Given the description of an element on the screen output the (x, y) to click on. 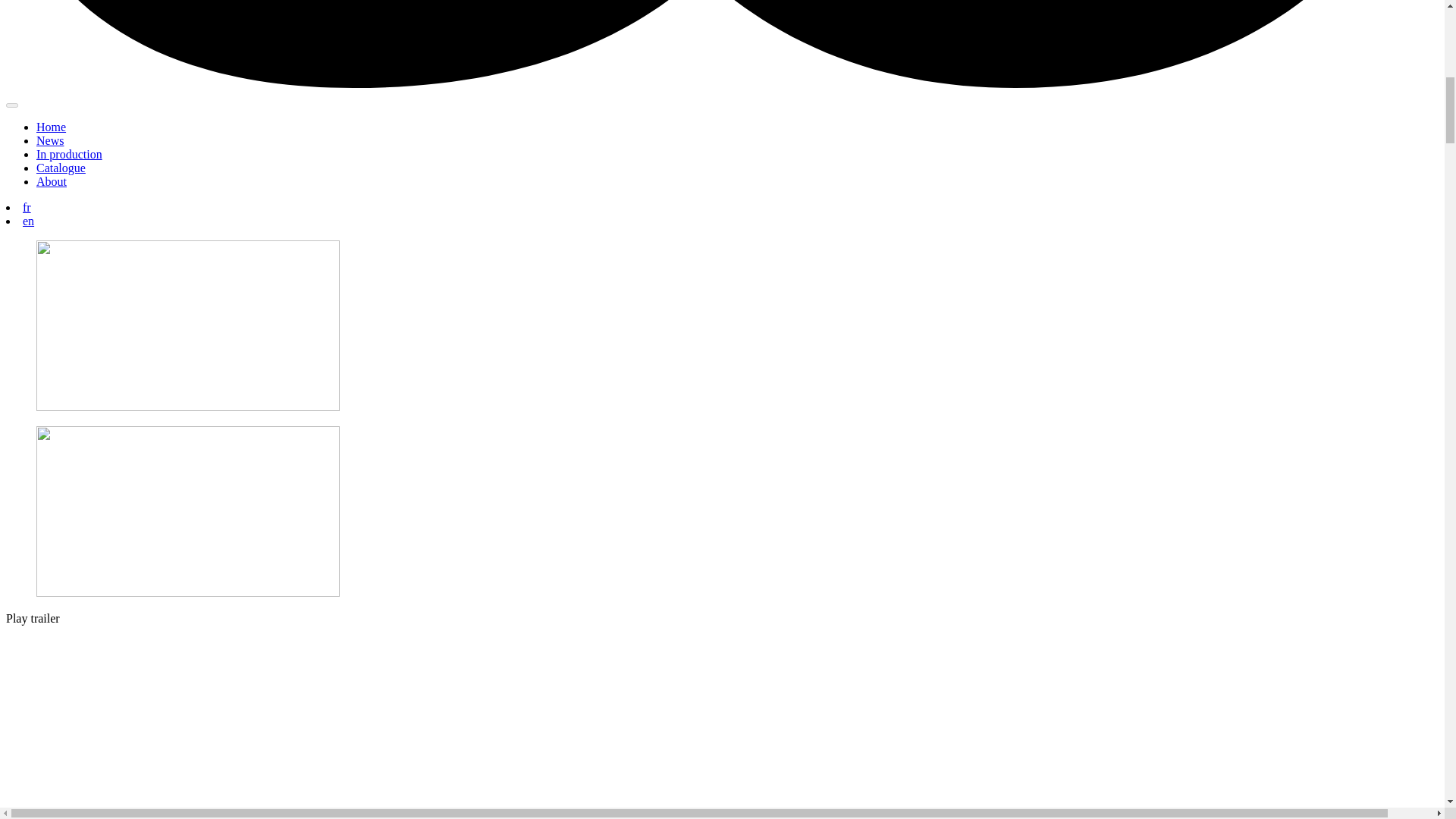
fr (26, 206)
Play trailer (32, 617)
About (51, 181)
News (50, 140)
Home (50, 126)
Catalogue (60, 167)
GoldaMaria Teaser (278, 722)
en (28, 220)
In production (68, 154)
